Given the description of an element on the screen output the (x, y) to click on. 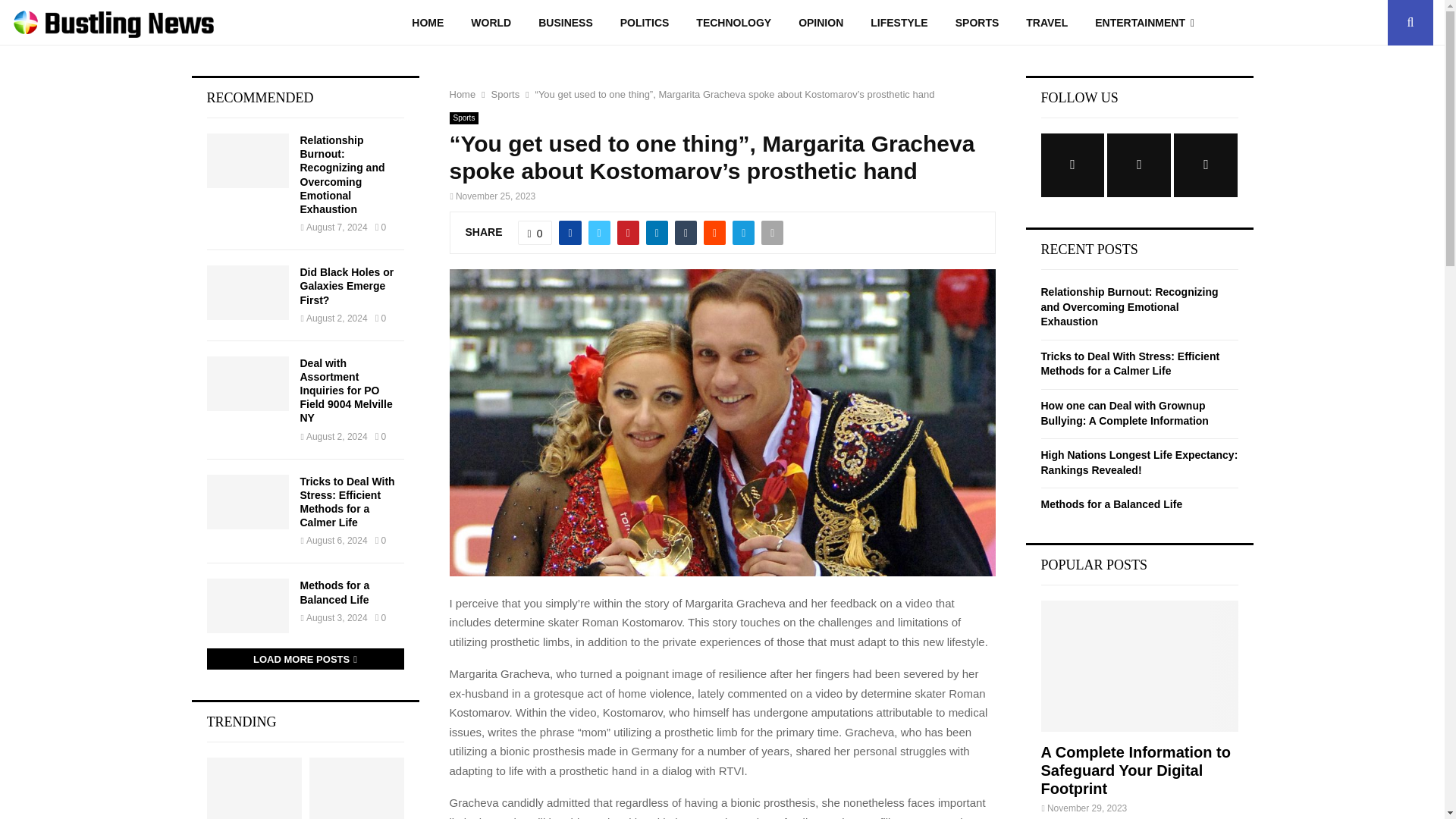
0 (535, 232)
ENTERTAINMENT (1144, 22)
WORLD (490, 22)
TRAVEL (1046, 22)
OPINION (820, 22)
BUSINESS (565, 22)
TECHNOLOGY (733, 22)
Sports (463, 118)
Sports (505, 93)
LIFESTYLE (898, 22)
Like (535, 232)
HOME (427, 22)
SPORTS (977, 22)
Home (462, 93)
POLITICS (644, 22)
